Given the description of an element on the screen output the (x, y) to click on. 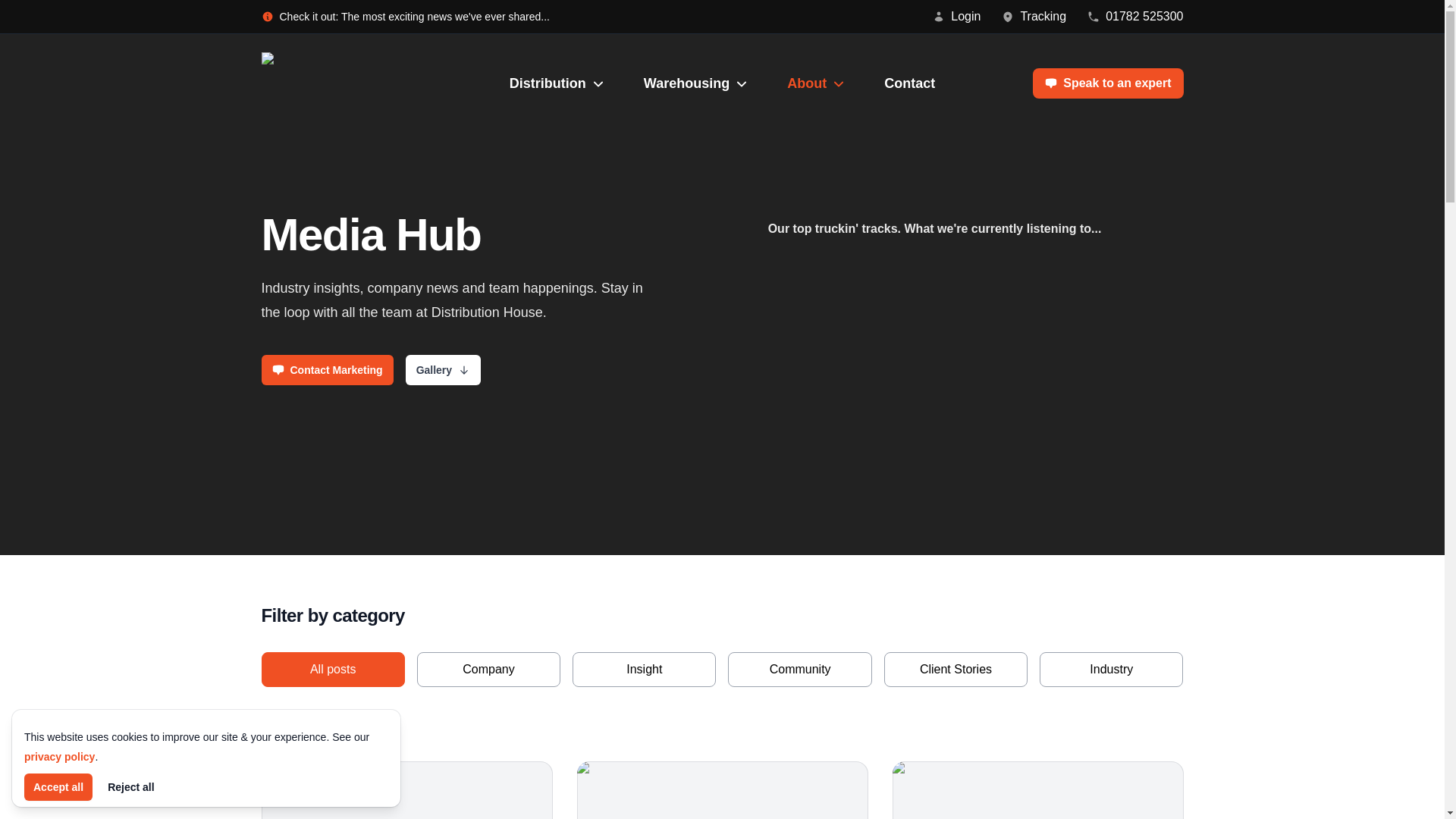
Company (488, 669)
Contact Marketing (326, 369)
Warehousing (697, 83)
Speak to an expert (1107, 82)
All posts (332, 669)
Gallery (443, 369)
01782 525300 (1134, 16)
Distribution (558, 83)
Check it out: The most exciting news we've ever shared... (404, 16)
Tracking (1033, 16)
